Given the description of an element on the screen output the (x, y) to click on. 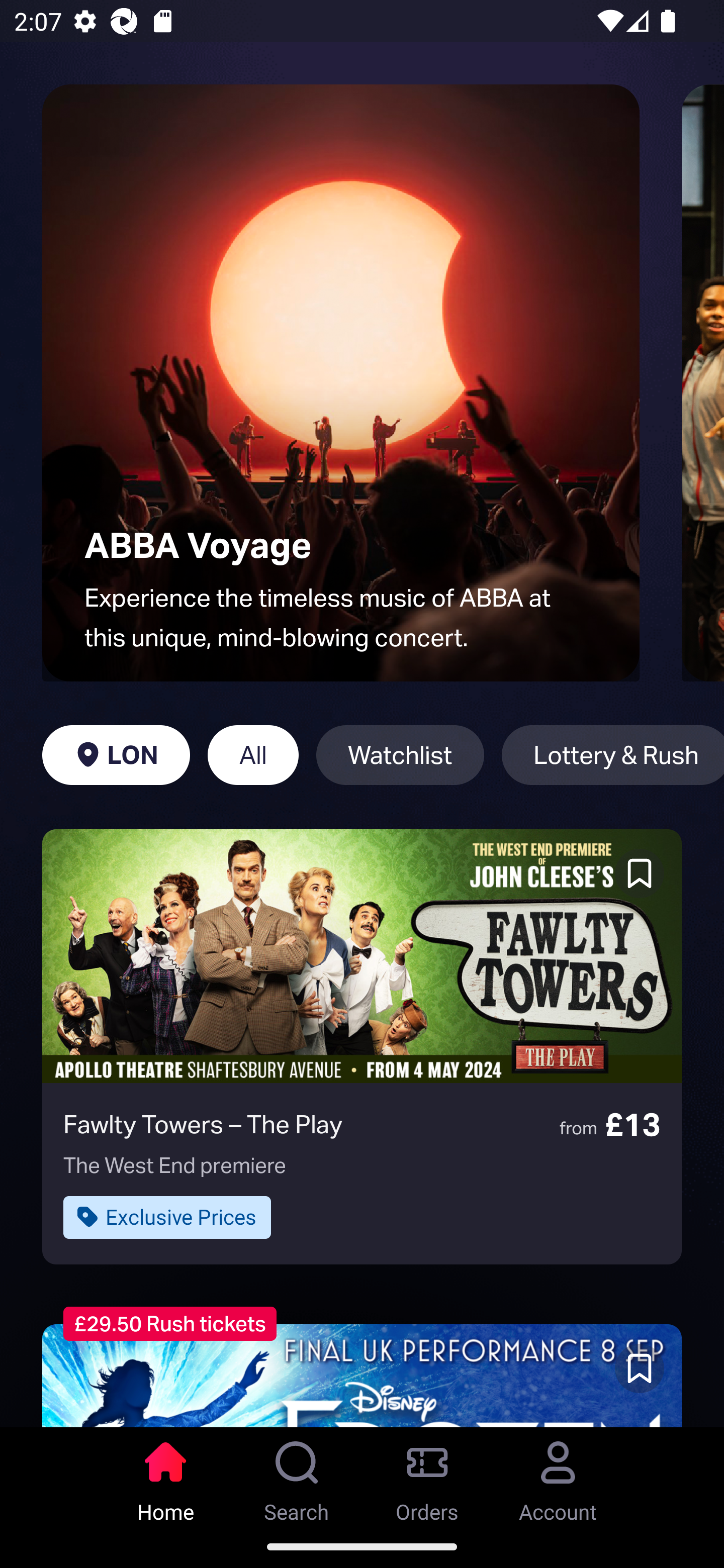
LON (115, 754)
All (252, 754)
Watchlist (400, 754)
Lottery & Rush (612, 754)
Search (296, 1475)
Orders (427, 1475)
Account (558, 1475)
